Given the description of an element on the screen output the (x, y) to click on. 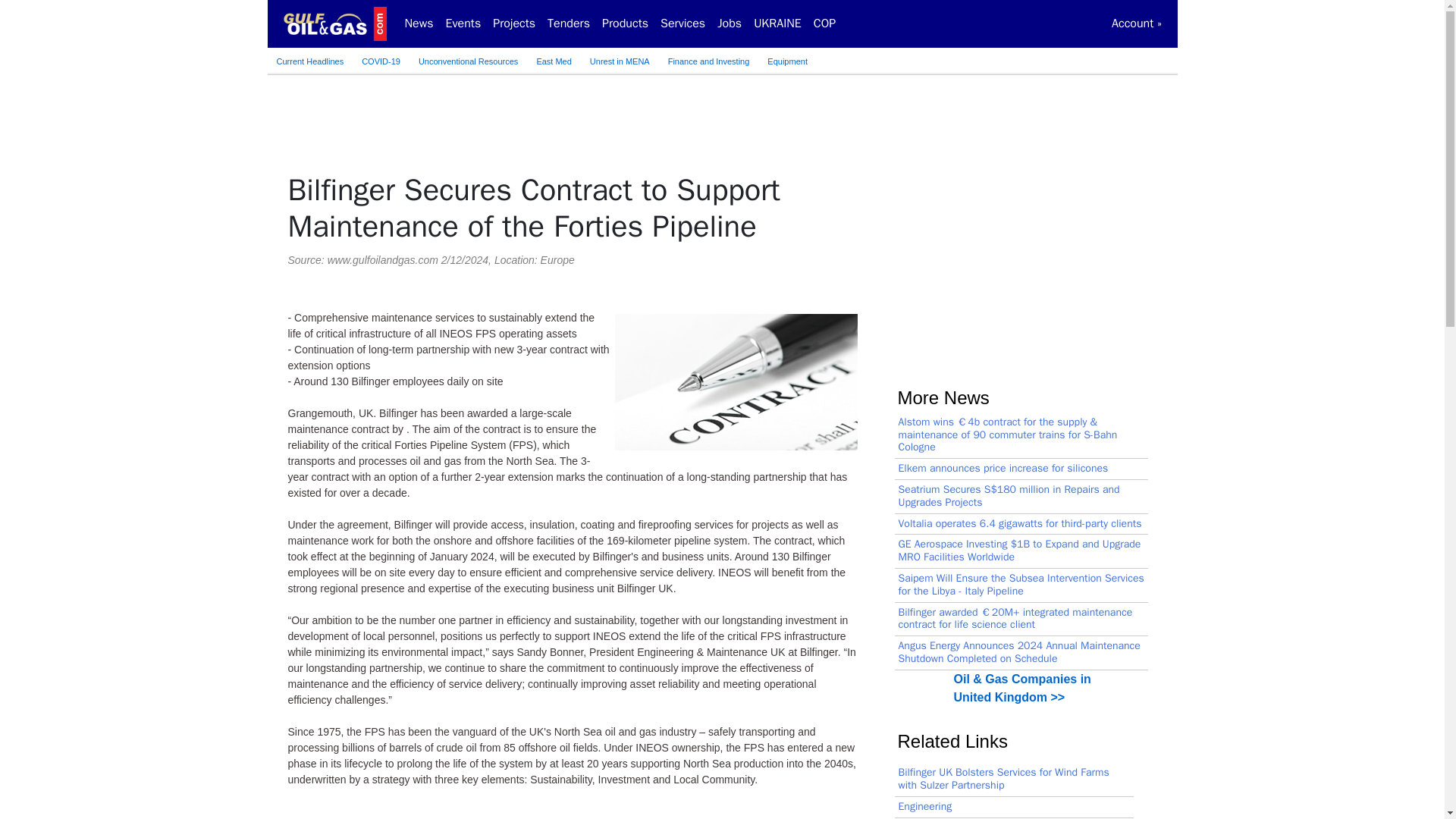
Unconventional Resources (468, 61)
Equipment (787, 61)
COP (824, 23)
Unrest in MENA (619, 61)
East Mediterranean (553, 61)
Products (624, 23)
News (418, 23)
East Med (553, 61)
Projects (513, 23)
Services (682, 23)
Current Headlines (309, 61)
Current Headlines (309, 61)
Finance and Investing (708, 61)
Finance and Investing (708, 61)
Unconventional Fuels (468, 61)
